Given the description of an element on the screen output the (x, y) to click on. 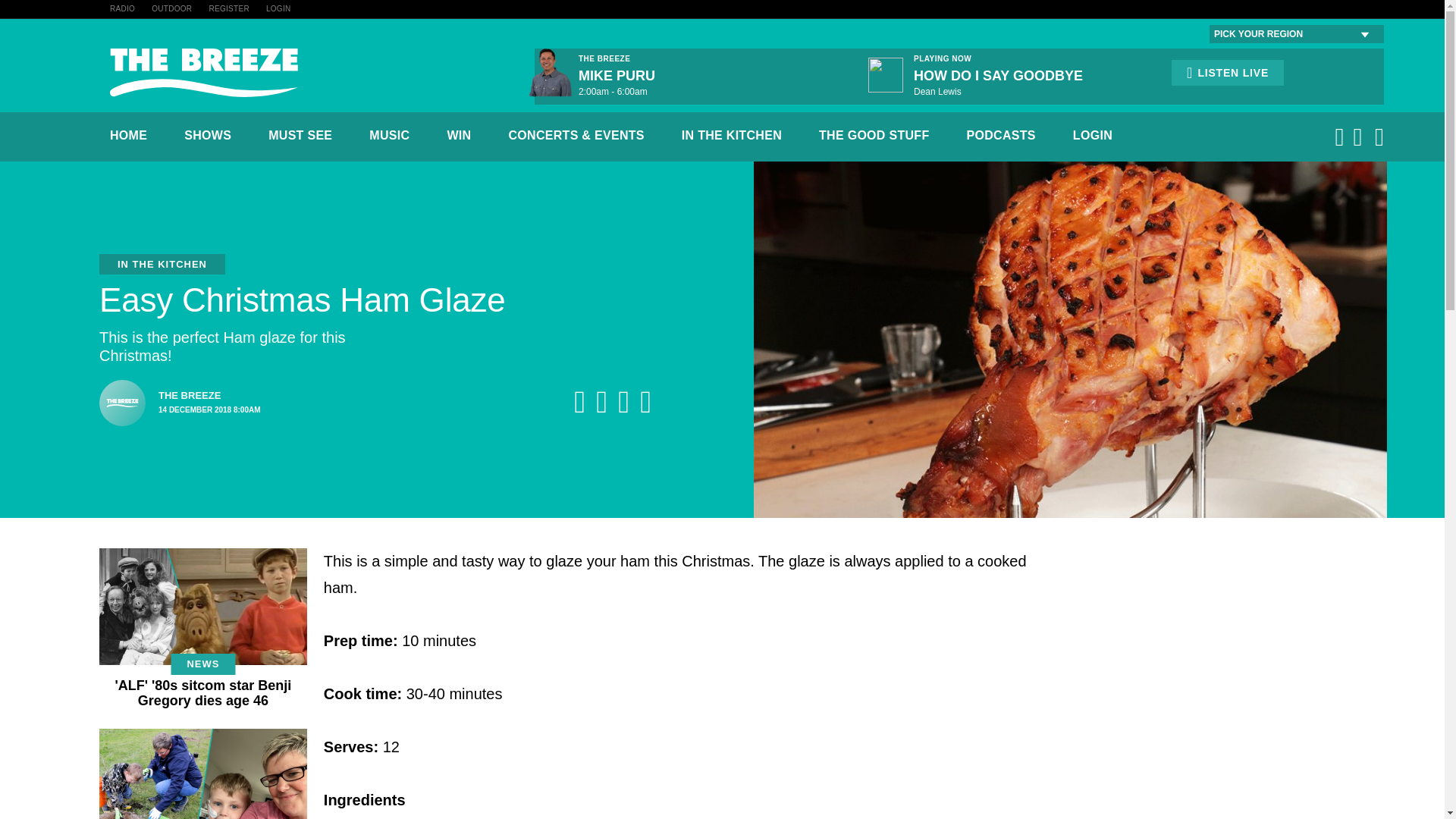
THE GOOD STUFF (874, 134)
HOME (128, 134)
RADIO (122, 8)
LOGIN (1092, 134)
PODCASTS (1000, 134)
'ALF' '80s sitcom star Benji Gregory dies age 46 (203, 693)
NEWS (202, 663)
REGISTER (228, 8)
WIN (458, 134)
LOGIN (278, 8)
